Given the description of an element on the screen output the (x, y) to click on. 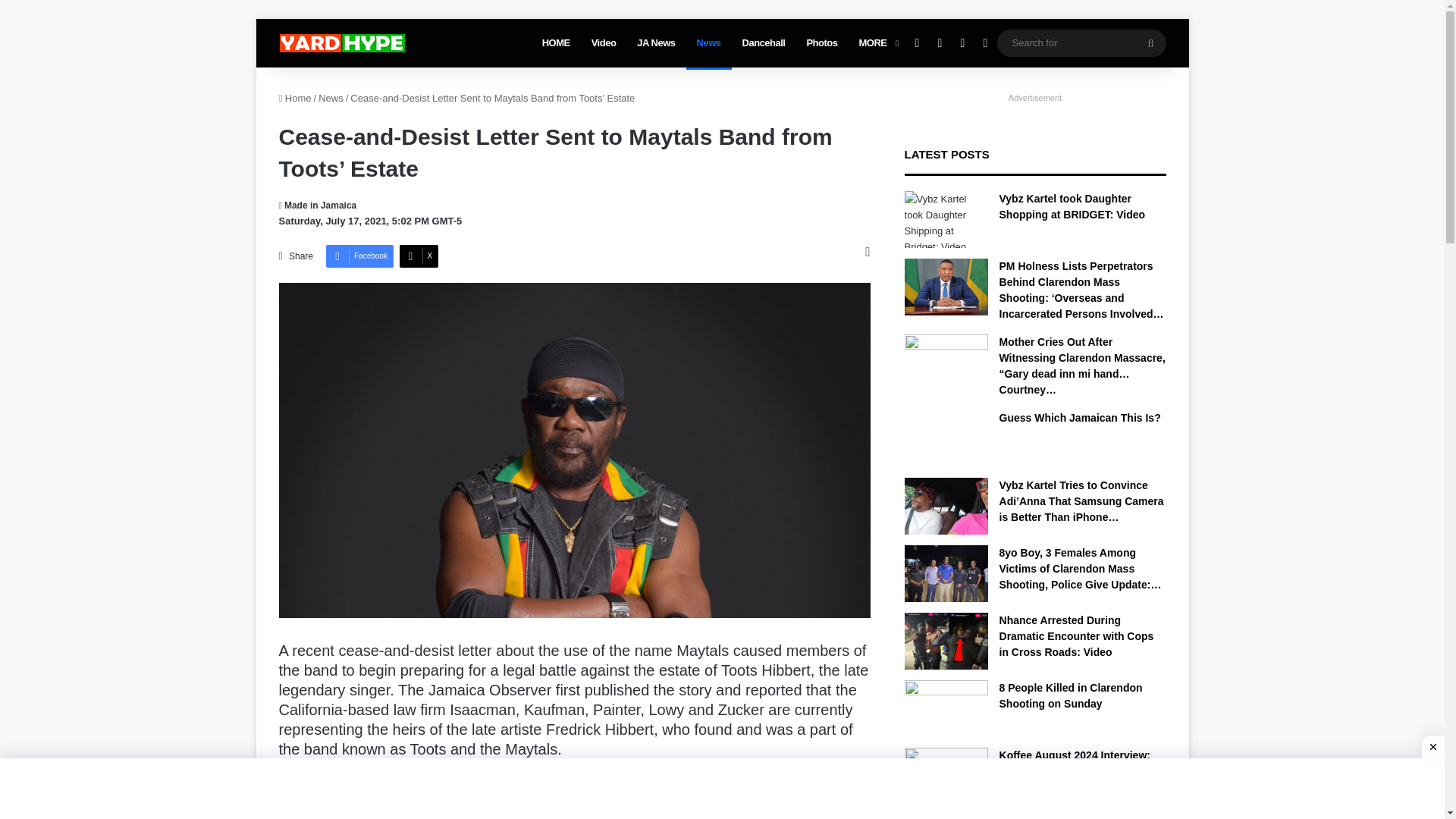
Made in Jamaica (317, 204)
MORE (876, 42)
Search for (1150, 42)
Made in Jamaica (317, 204)
Dancehall (764, 42)
JA News (655, 42)
HOME (555, 42)
Video (603, 42)
X (418, 255)
Photos (820, 42)
